Given the description of an element on the screen output the (x, y) to click on. 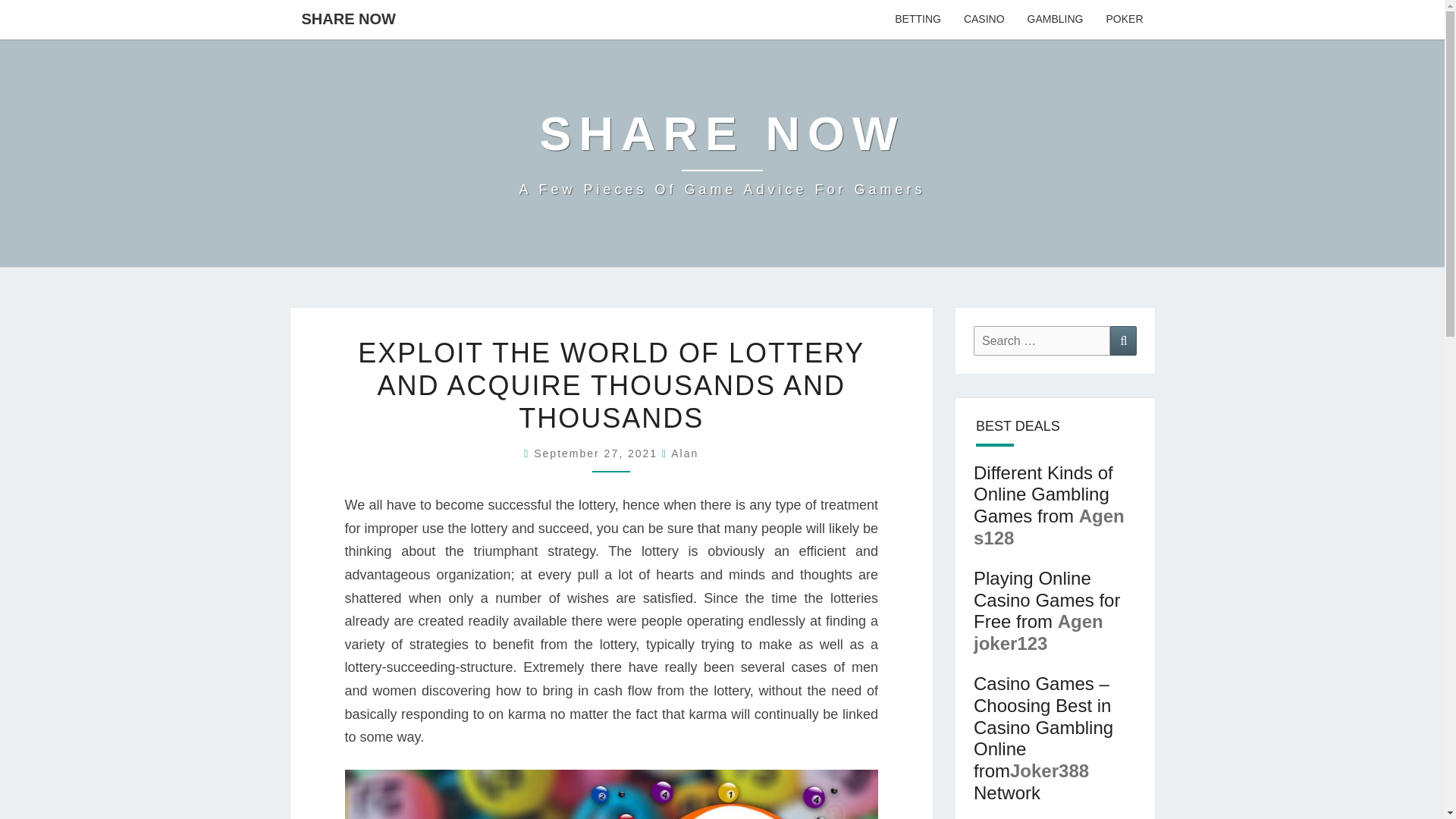
September 27, 2021 (598, 453)
BETTING (917, 19)
CASINO (984, 19)
SHARE NOW (347, 18)
GAMBLING (1055, 19)
6:21 am (598, 453)
Agen joker123 (1038, 631)
Share Now (721, 152)
Search for: (721, 152)
